Given the description of an element on the screen output the (x, y) to click on. 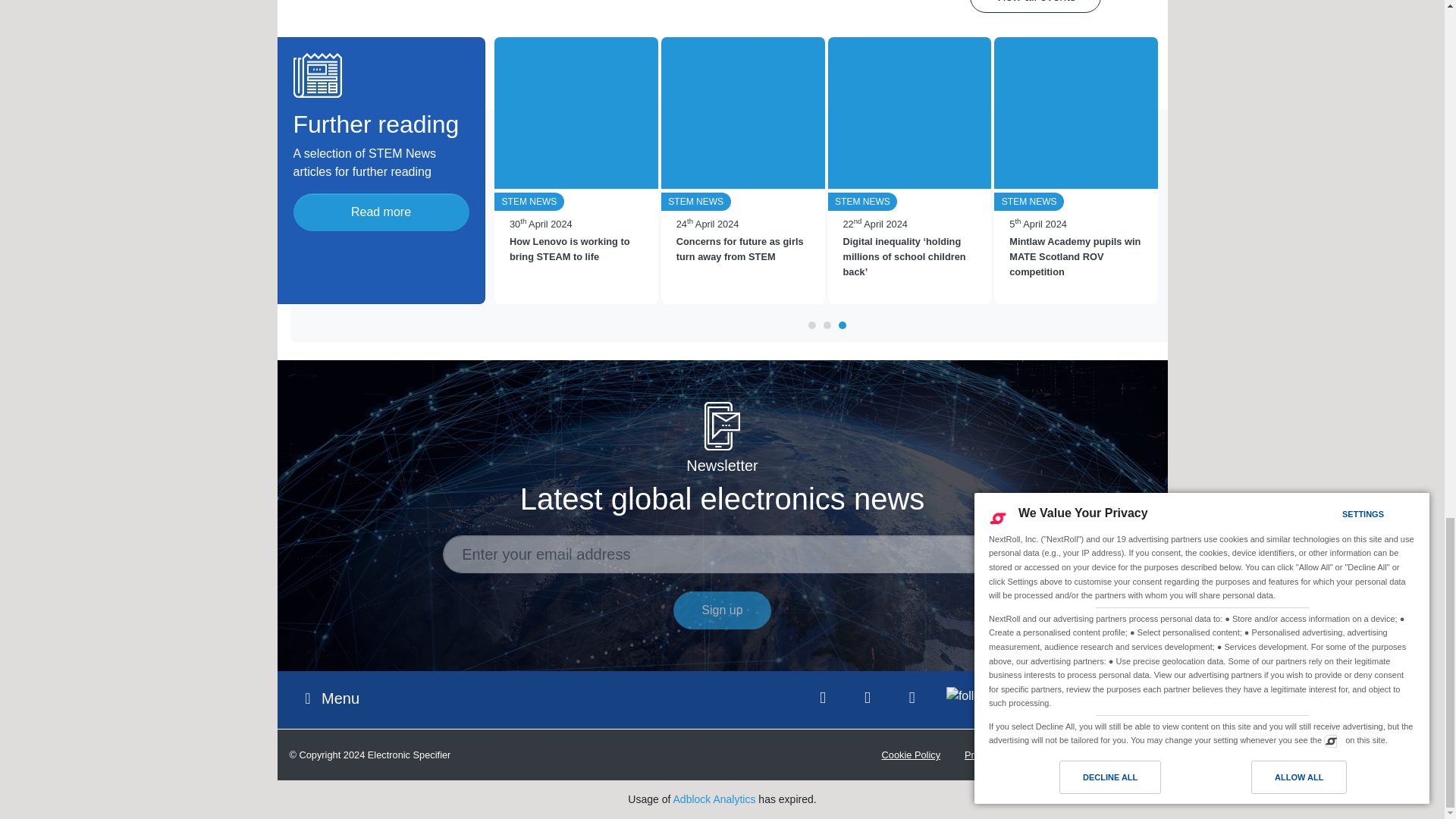
All upcoming events (1034, 6)
